Given the description of an element on the screen output the (x, y) to click on. 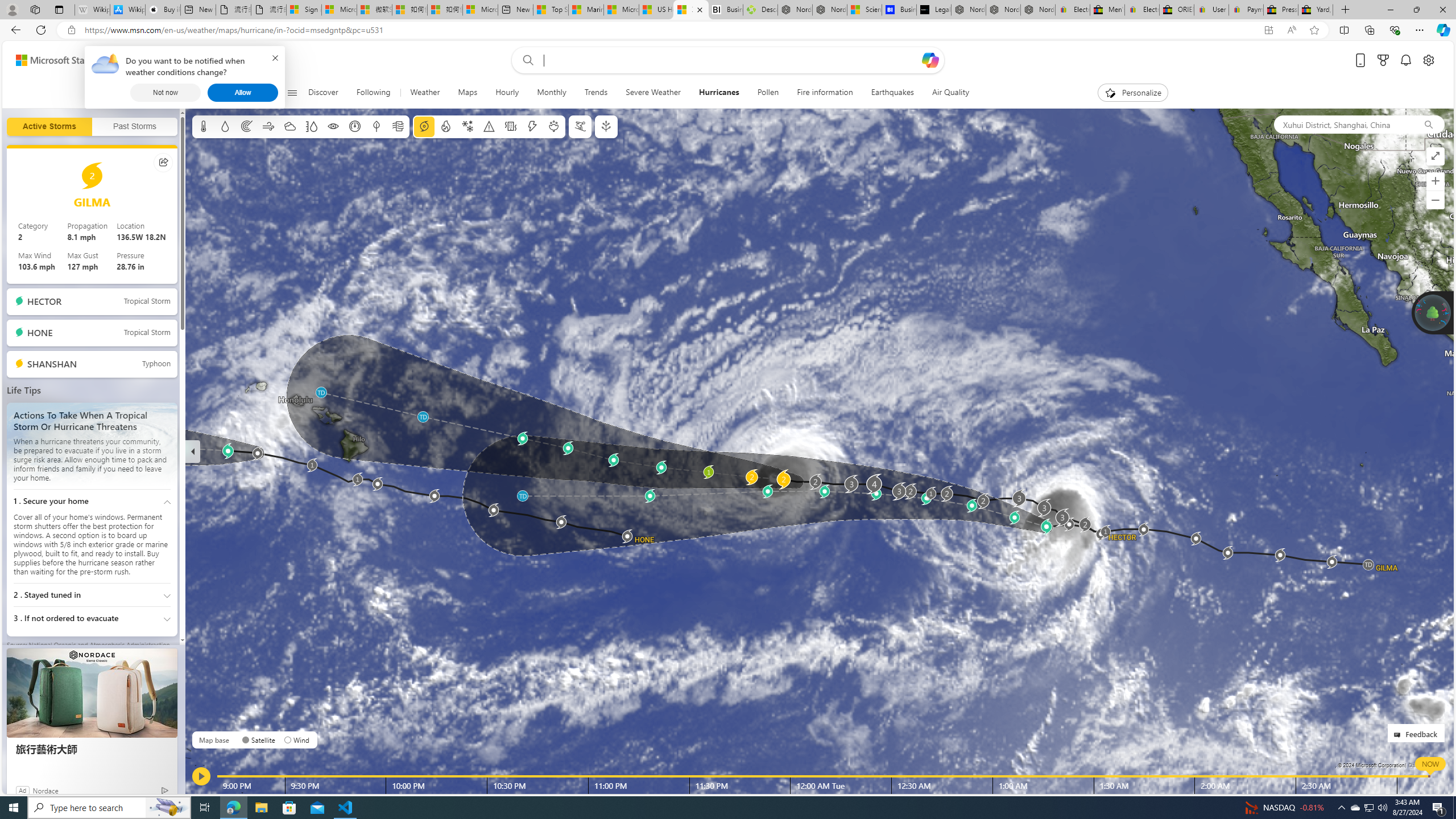
Precipitation (225, 126)
Earthquakes (892, 92)
Hide (192, 450)
Hurricanes (718, 92)
Trends (596, 92)
Air Quality (946, 92)
App available. Install Microsoft Start Weather (1268, 29)
Join us in planting real trees to help our planet! (1431, 311)
